Given the description of an element on the screen output the (x, y) to click on. 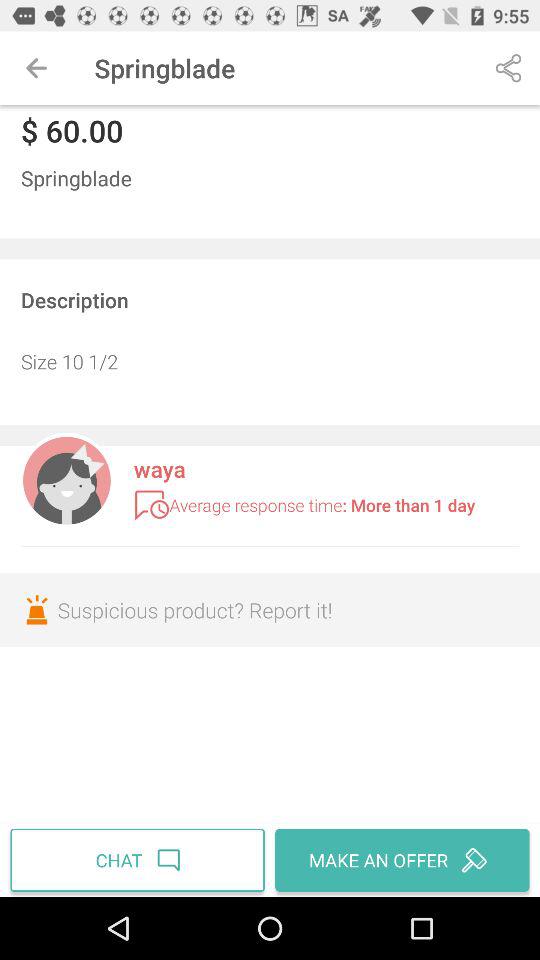
click icon above $ 60.00 icon (36, 68)
